Given the description of an element on the screen output the (x, y) to click on. 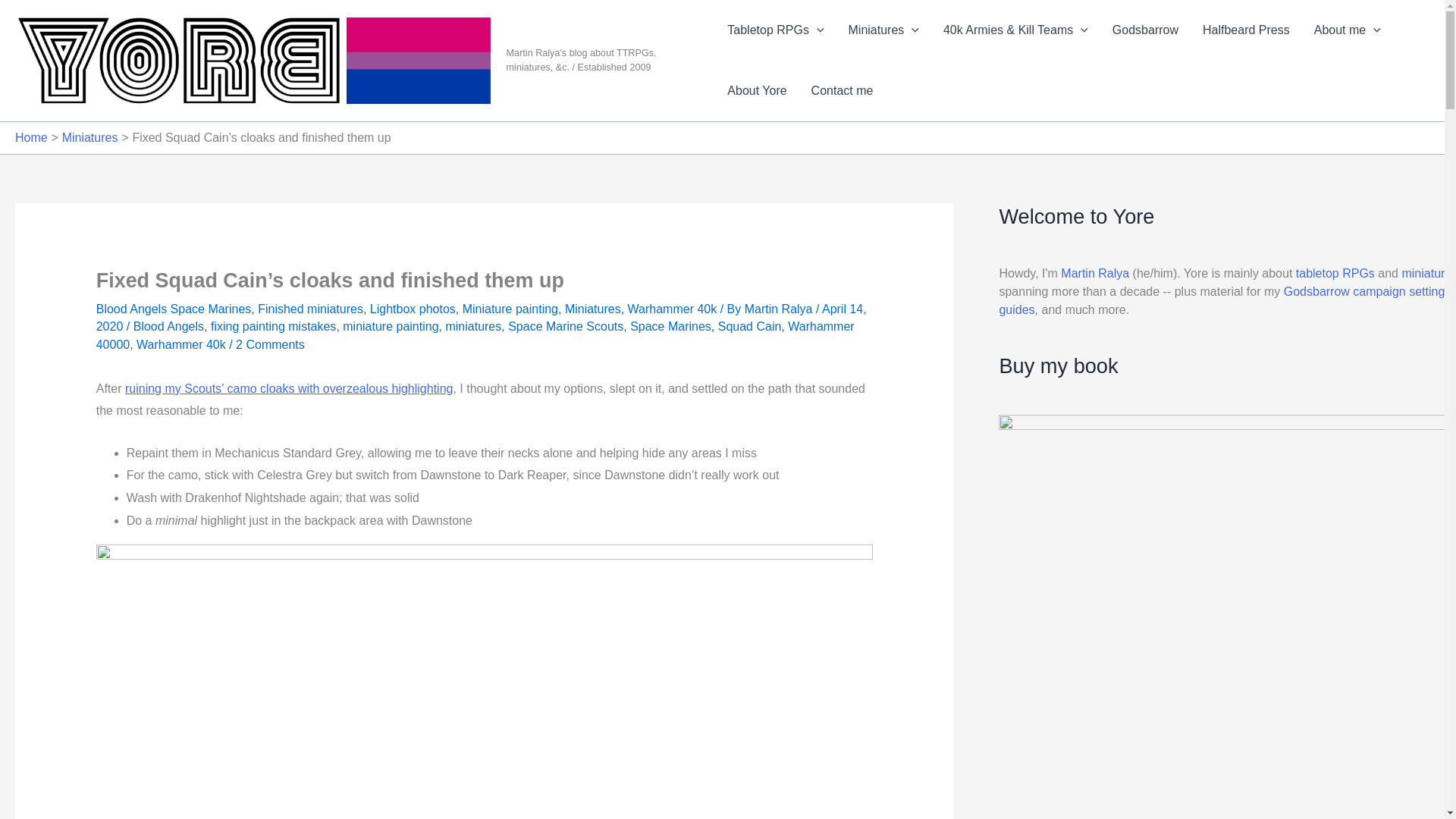
View all posts by Martin Ralya (779, 308)
Tabletop RPGs (774, 30)
Miniatures (883, 30)
